Given the description of an element on the screen output the (x, y) to click on. 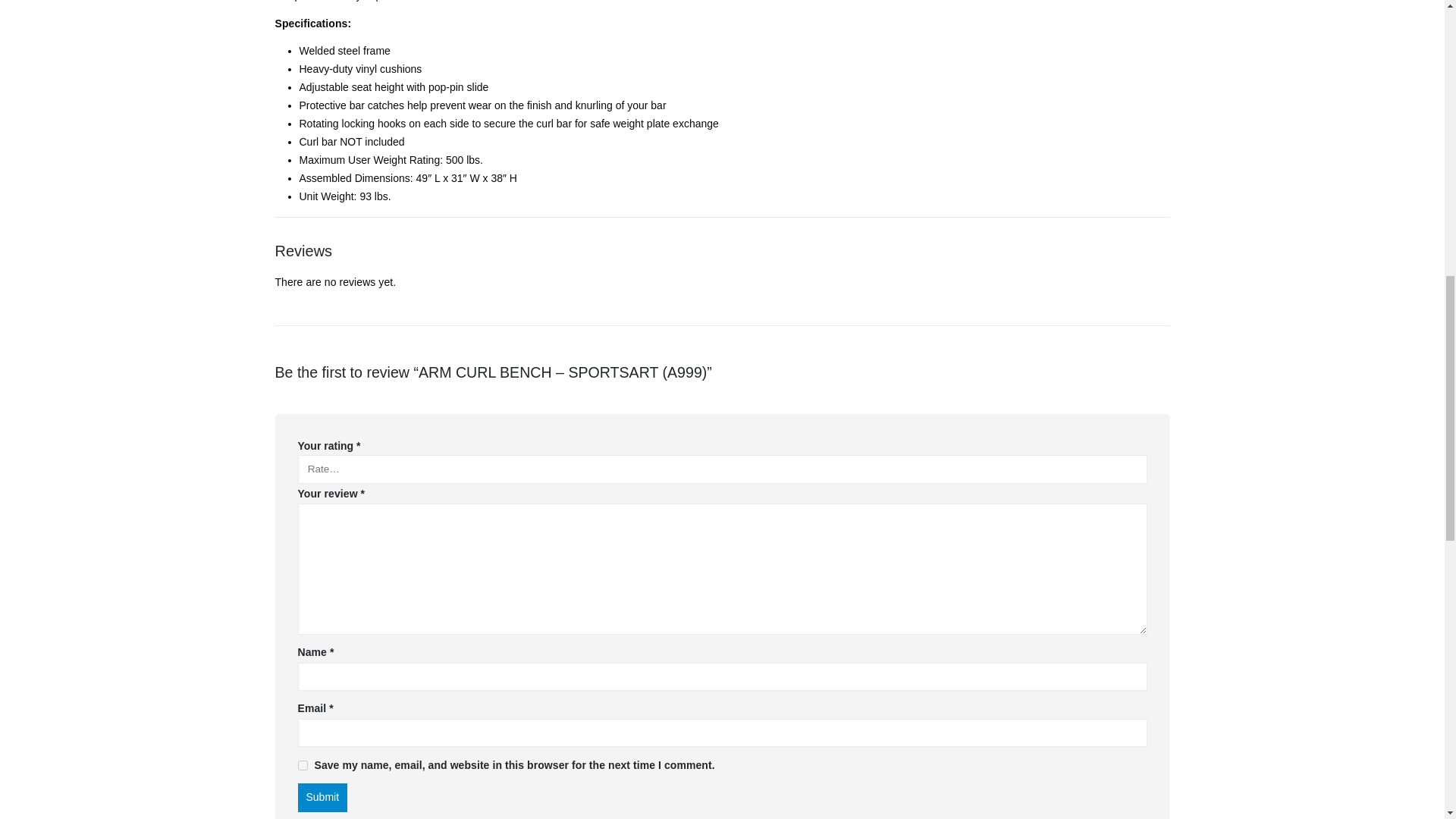
Submit (322, 797)
yes (302, 765)
